Given the description of an element on the screen output the (x, y) to click on. 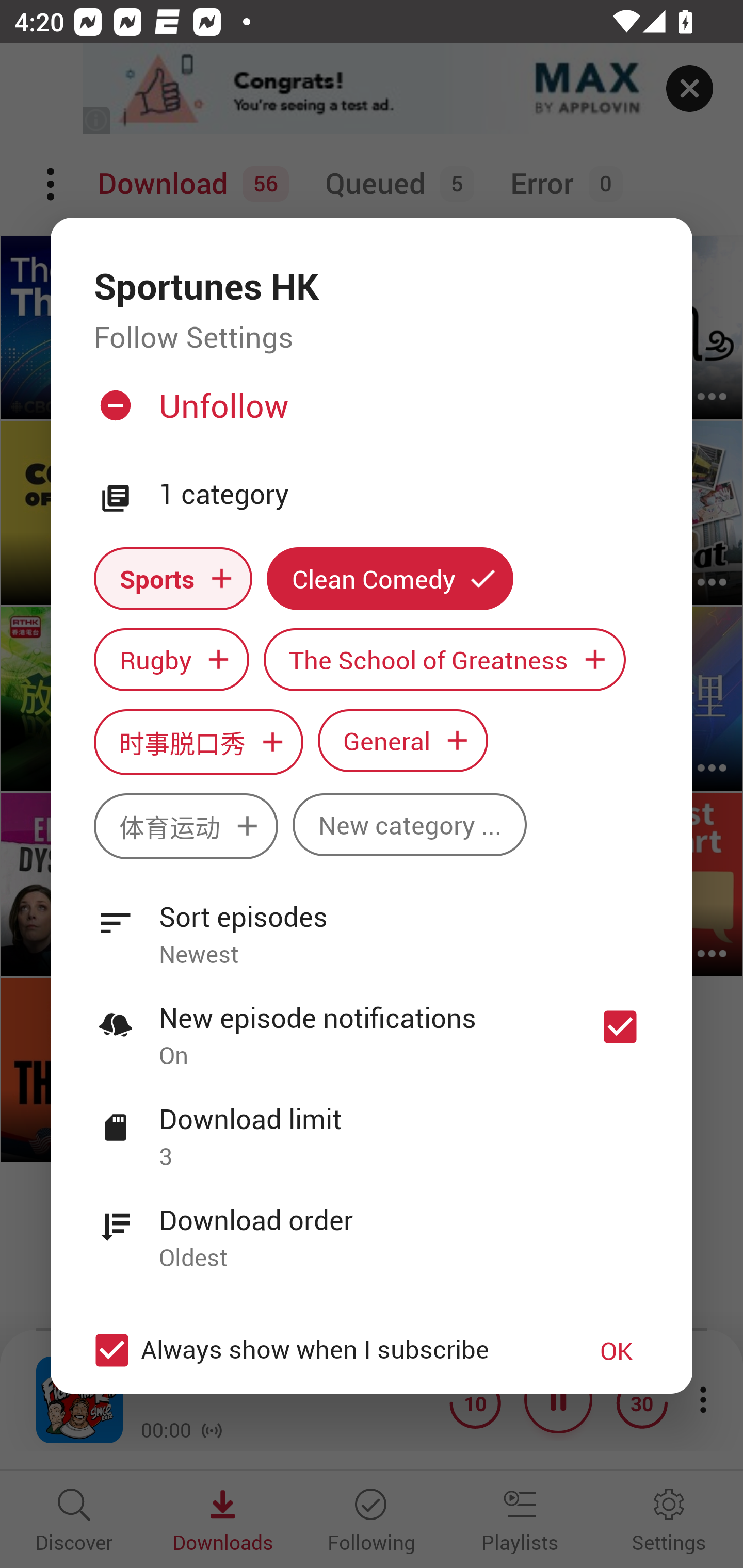
Unfollow (369, 413)
1 category (404, 494)
Sports (172, 578)
Clean Comedy (389, 578)
Rugby (170, 659)
The School of Greatness (444, 659)
时事脱口秀 (198, 741)
General (403, 739)
体育运动 (185, 826)
New category ... (409, 824)
Sort episodes Newest (371, 924)
New episode notifications (620, 1026)
Download limit 3 (371, 1126)
Download order Oldest (371, 1227)
OK (616, 1350)
Always show when I subscribe (320, 1350)
